Given the description of an element on the screen output the (x, y) to click on. 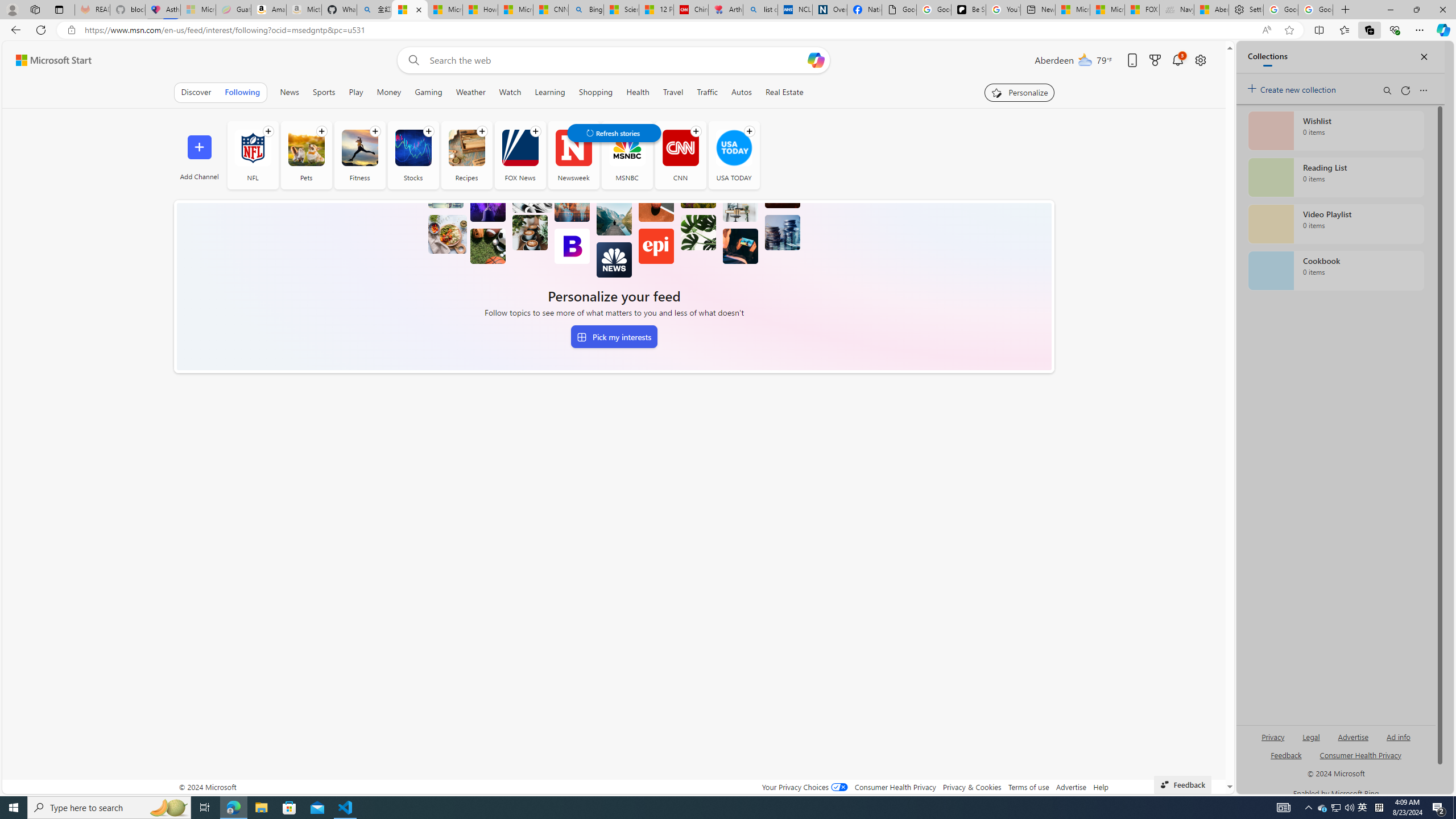
Shopping (596, 92)
Newsweek (573, 147)
Your Privacy Choices (804, 786)
Gaming (428, 92)
Recipes (466, 155)
Watch (509, 92)
Enter your search term (617, 59)
